Given the description of an element on the screen output the (x, y) to click on. 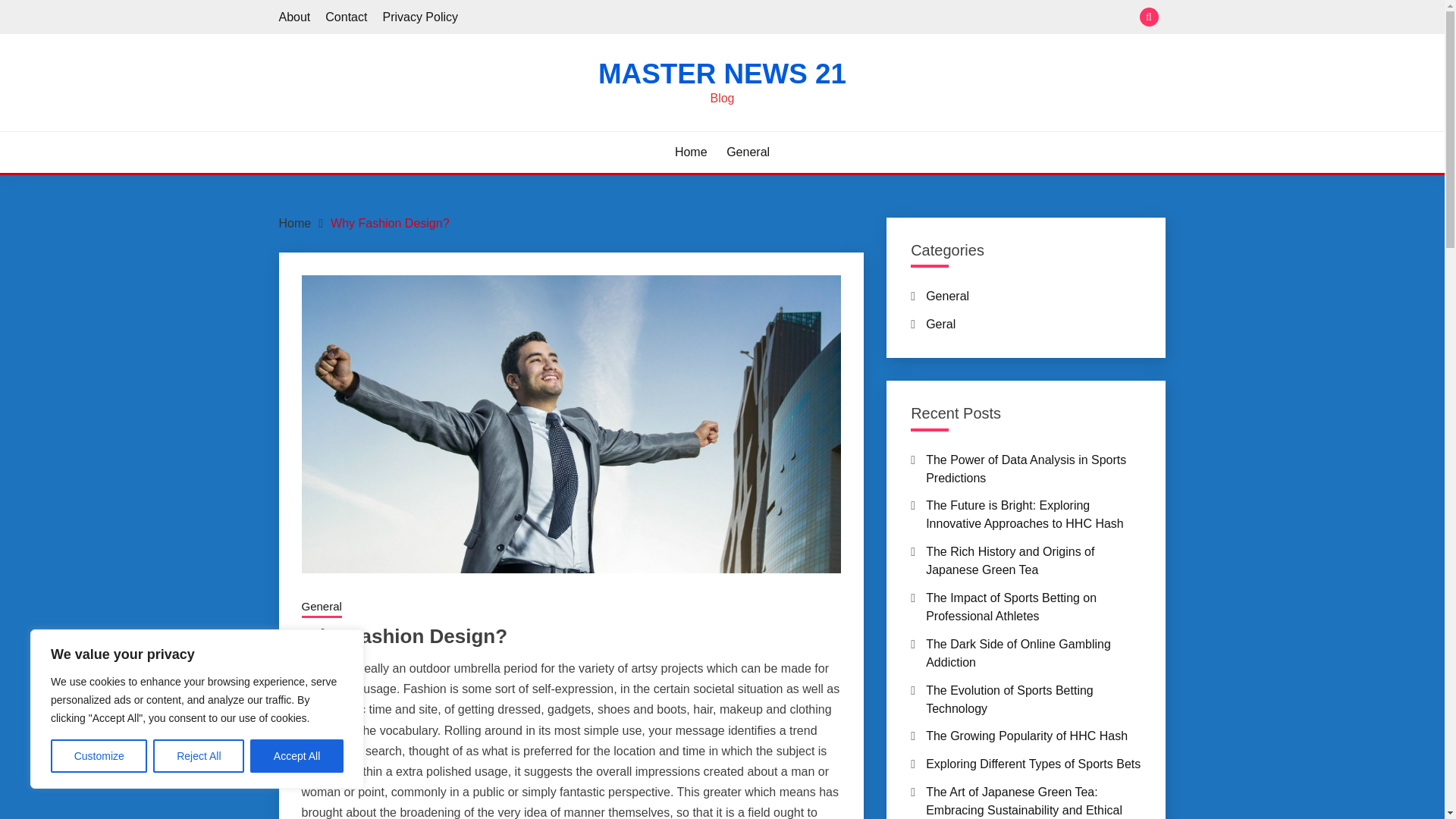
Home (295, 223)
MASTER NEWS 21 (721, 73)
General (321, 608)
Accept All (296, 756)
Reject All (198, 756)
General (748, 152)
Contact (345, 16)
Home (691, 152)
About (295, 16)
Why Fashion Design? (389, 223)
Privacy Policy (419, 16)
Customize (98, 756)
